Given the description of an element on the screen output the (x, y) to click on. 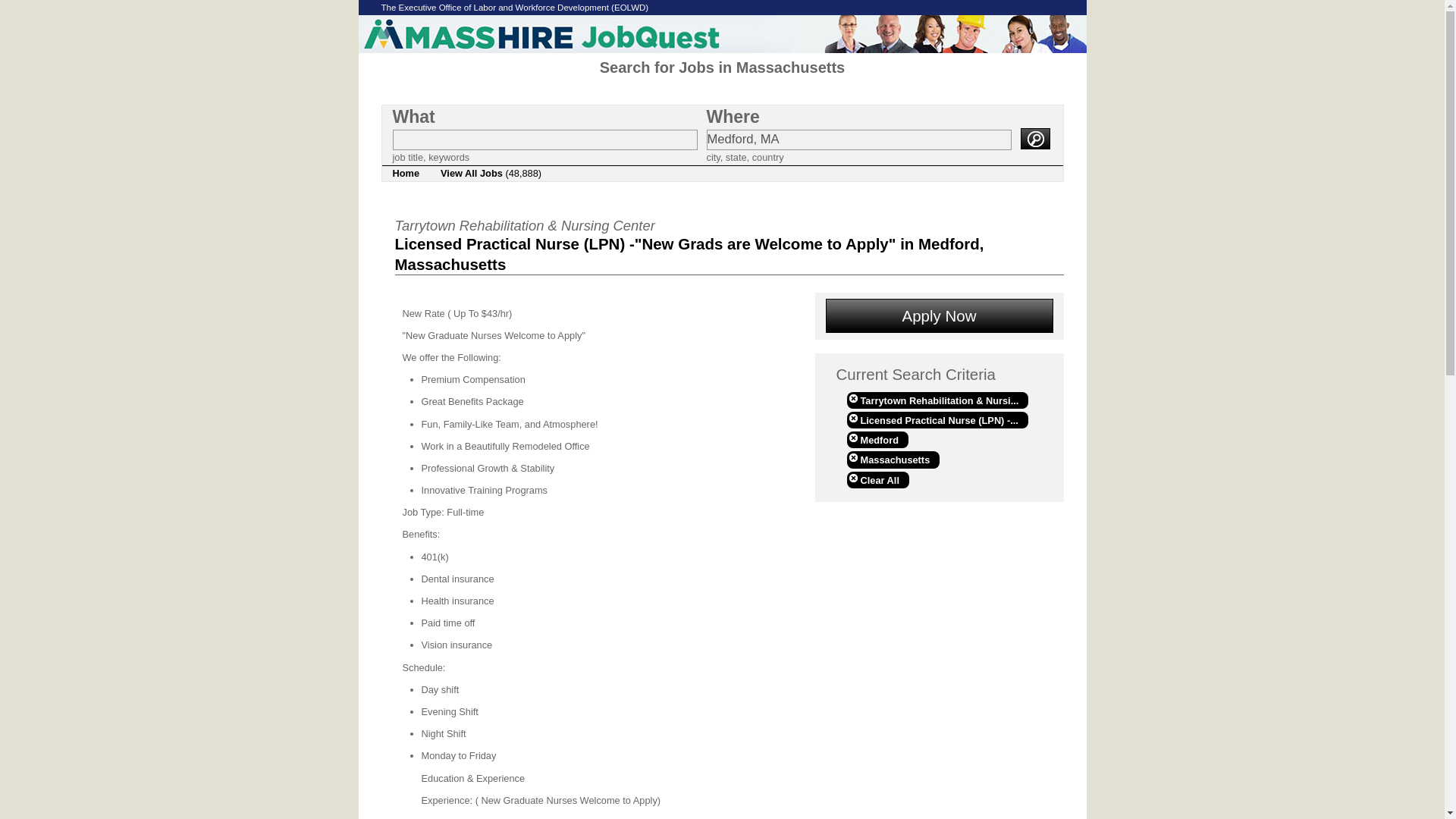
Remove Massachusetts (892, 459)
Home (405, 173)
Remove Medford (876, 439)
Clear All (876, 479)
Submit Search (1034, 138)
search (1034, 138)
Apply Now (938, 315)
Search Location (858, 139)
Massachusetts (892, 459)
Medford (876, 439)
